Given the description of an element on the screen output the (x, y) to click on. 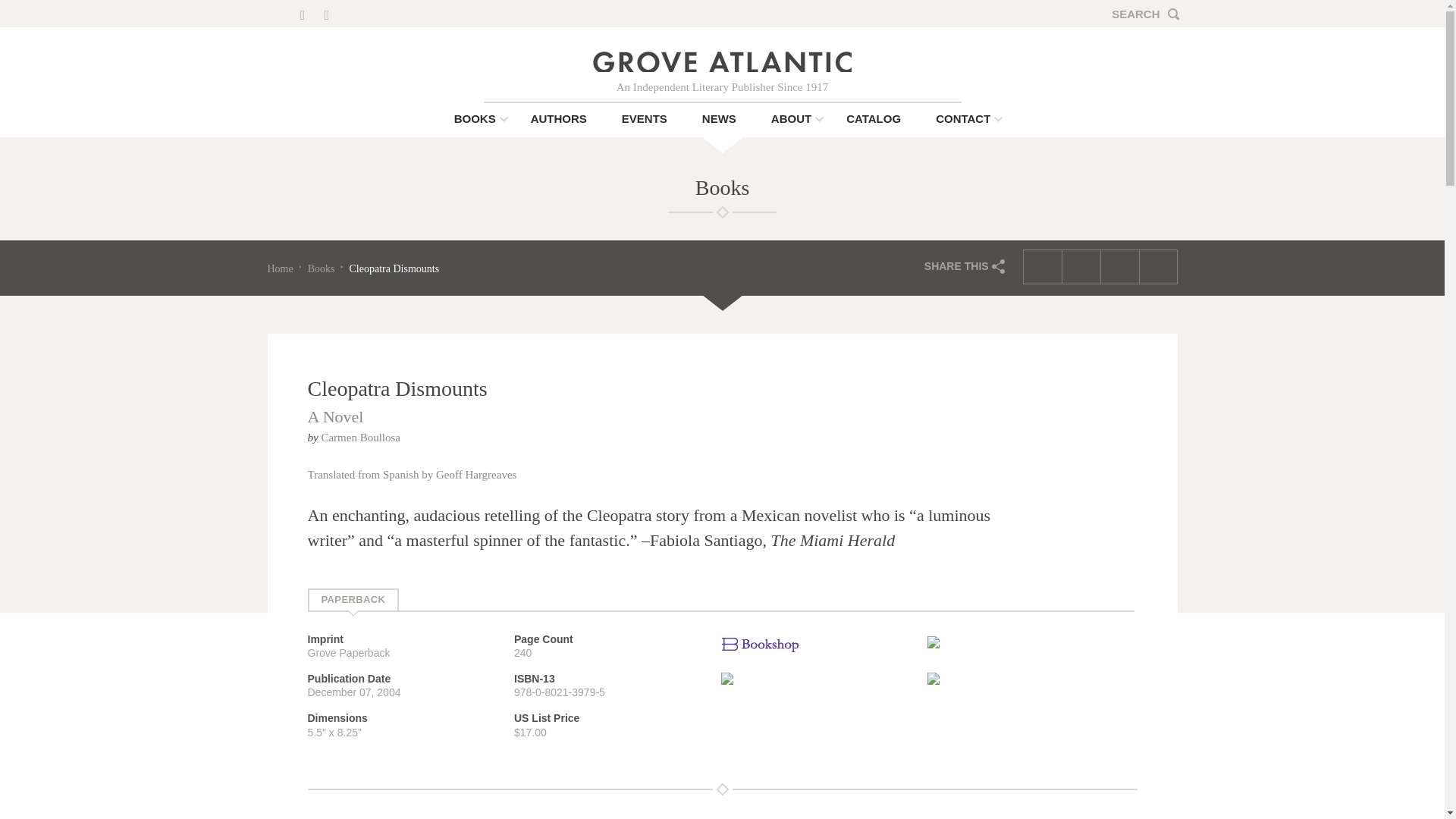
NEWS (718, 120)
ABOUT (790, 120)
BOOKS (475, 120)
AUTHORS (558, 120)
EVENTS (643, 120)
CATALOG (873, 120)
CONTACT (963, 120)
SEARCH (1144, 13)
